Given the description of an element on the screen output the (x, y) to click on. 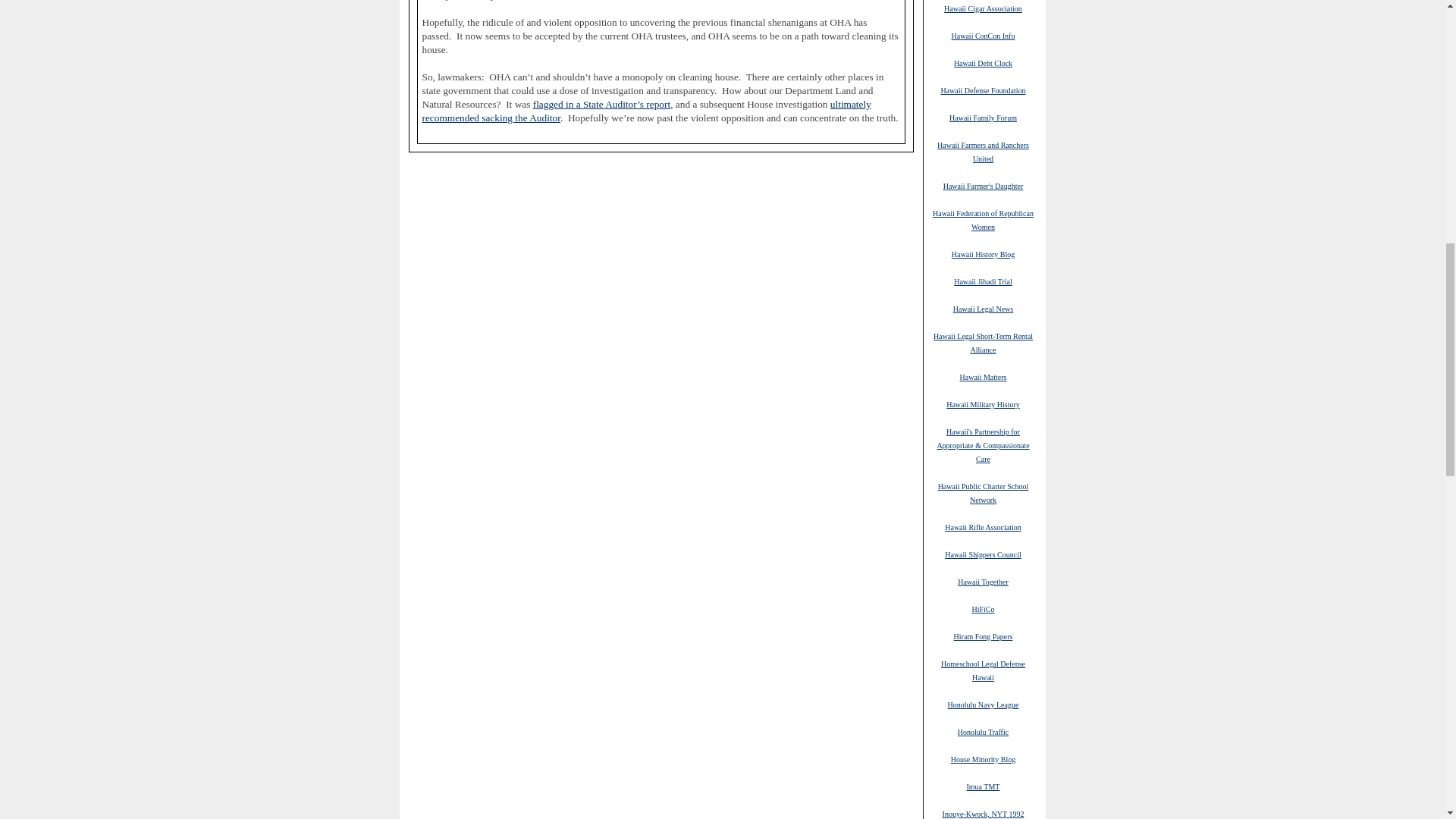
Hawaii Cigar Association (982, 8)
ultimately recommended sacking the Auditor (646, 110)
Hawaii ConCon Info (983, 35)
Hawaii Family Forum (982, 117)
Hawaii Defense Foundation (982, 90)
Hawaii Debt Clock (982, 62)
